Given the description of an element on the screen output the (x, y) to click on. 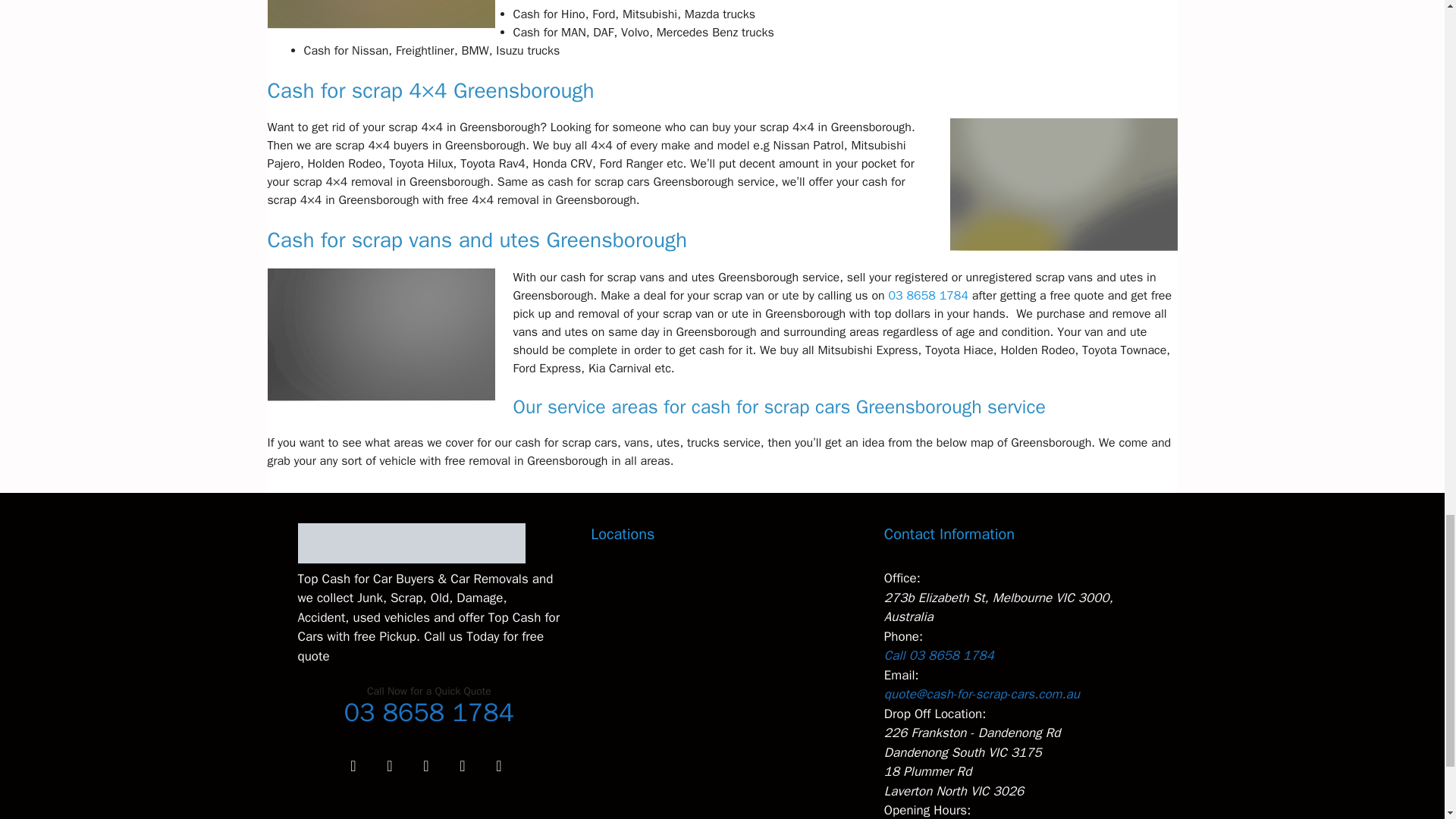
Instagram (461, 766)
Sell scrap van and ute in Greensborough Today (380, 334)
LinkedIn (425, 766)
Pinterest (498, 766)
Facebook (352, 766)
Twitter (389, 766)
We are scrap truck buyers in Greensborough area (380, 14)
03 8658 1784 (928, 295)
Cash for scrap 4x4 in Greensborough (1062, 183)
